Given the description of an element on the screen output the (x, y) to click on. 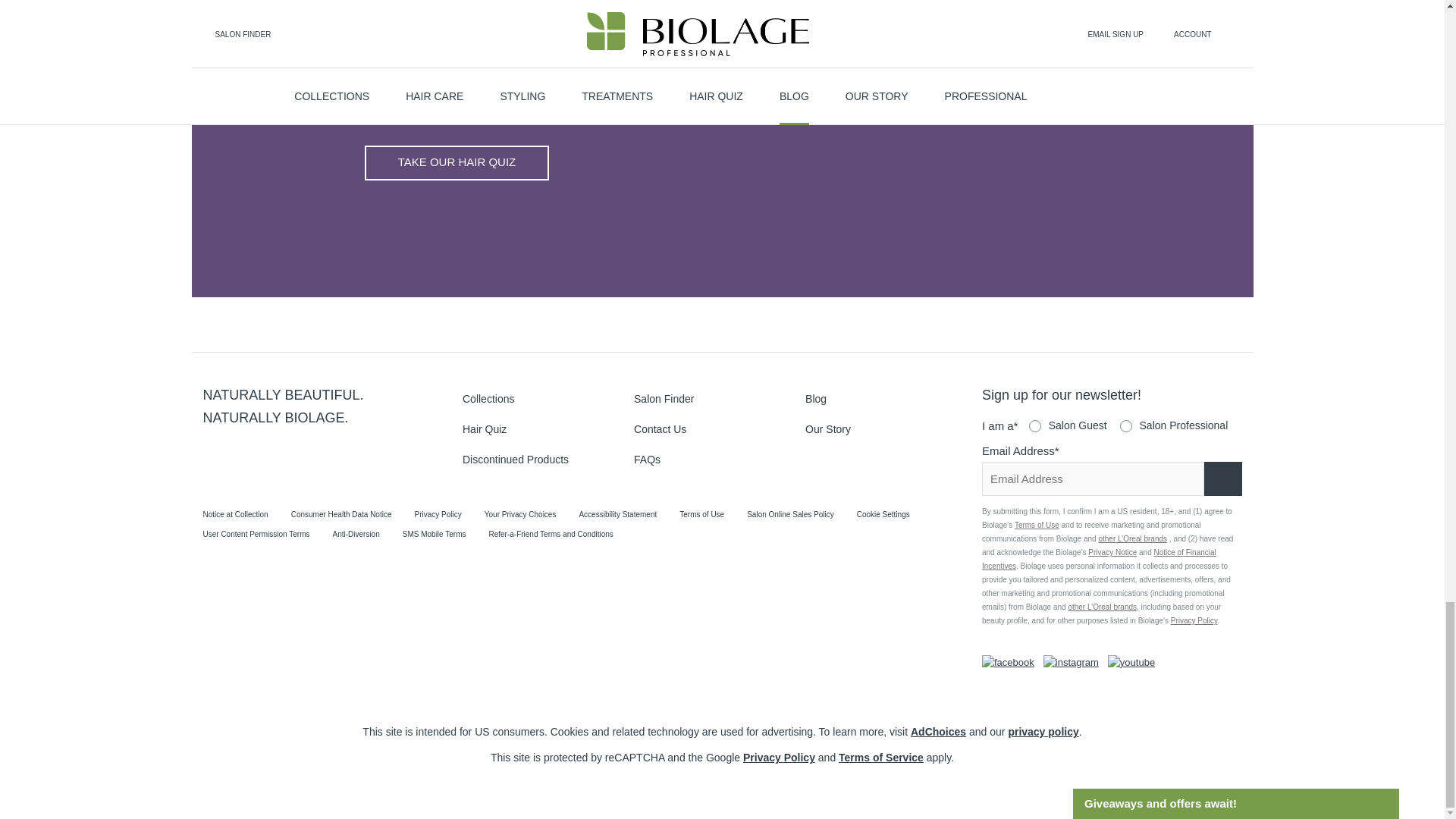
professional (1125, 426)
guest (1035, 426)
